Given the description of an element on the screen output the (x, y) to click on. 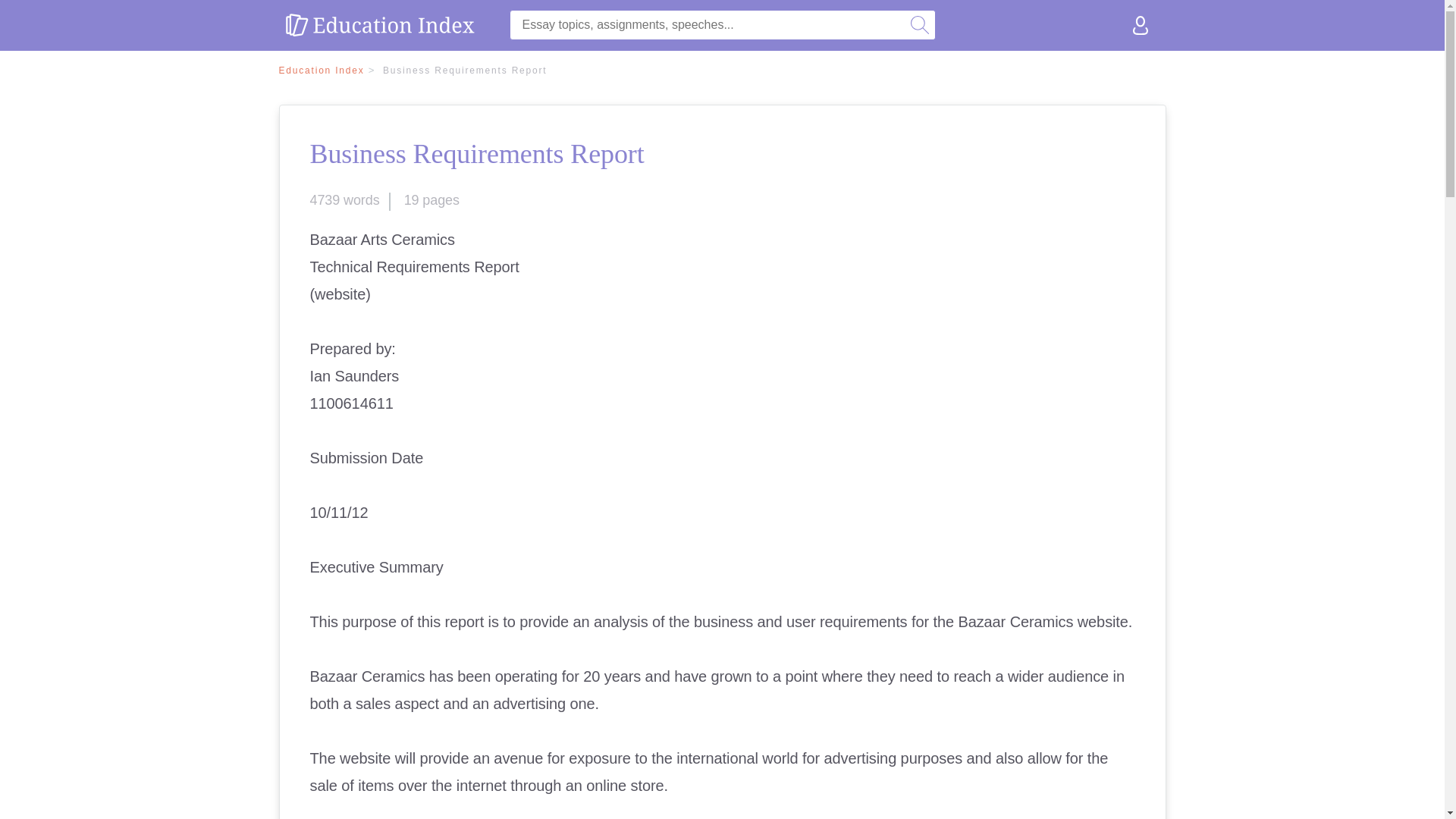
Education Index (329, 70)
